Given the description of an element on the screen output the (x, y) to click on. 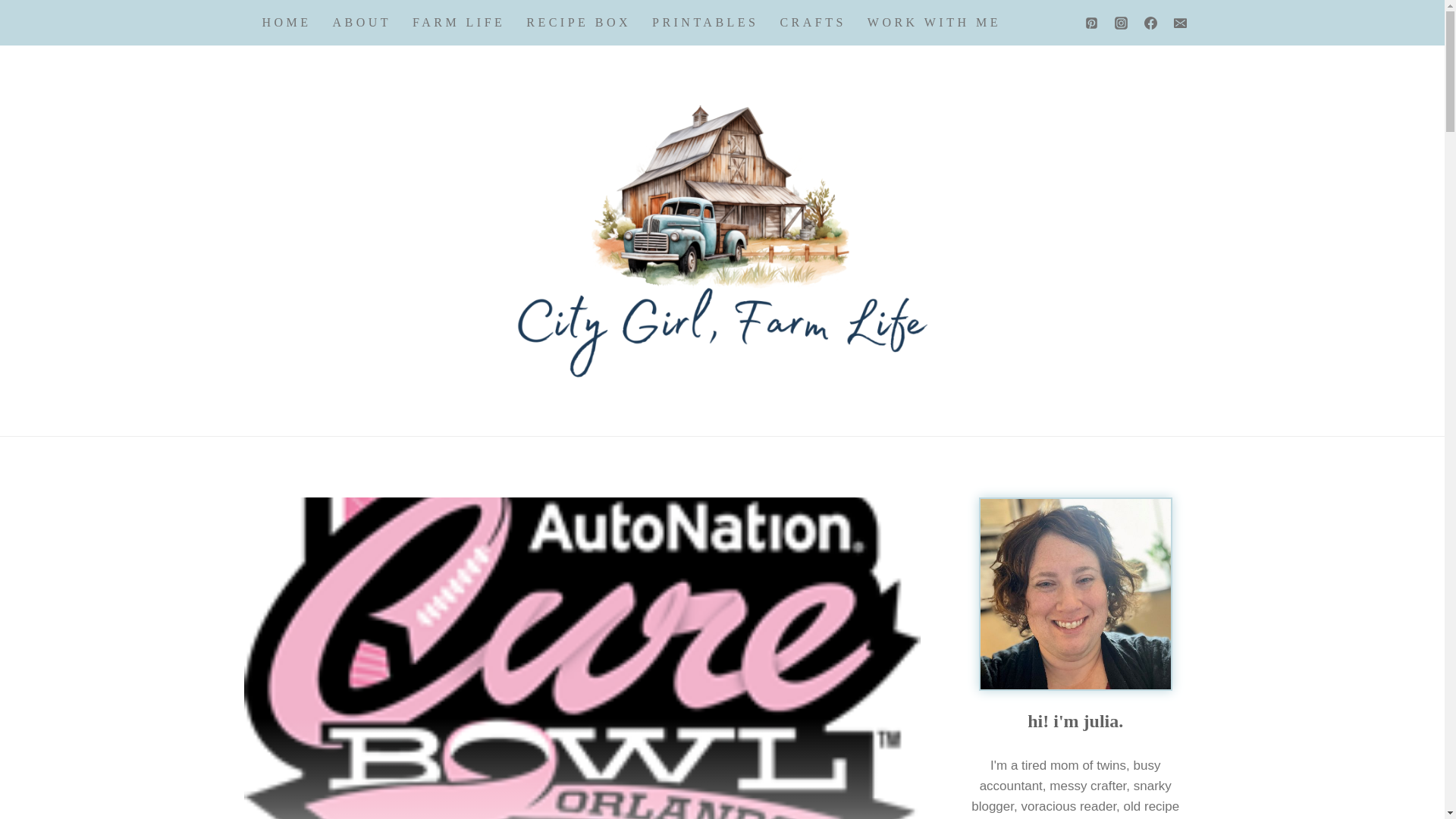
PRINTABLES (705, 22)
RECIPE BOX (578, 22)
CRAFTS (812, 22)
FARM LIFE (458, 22)
HOME (286, 22)
ABOUT (362, 22)
WORK WITH ME (934, 22)
